Given the description of an element on the screen output the (x, y) to click on. 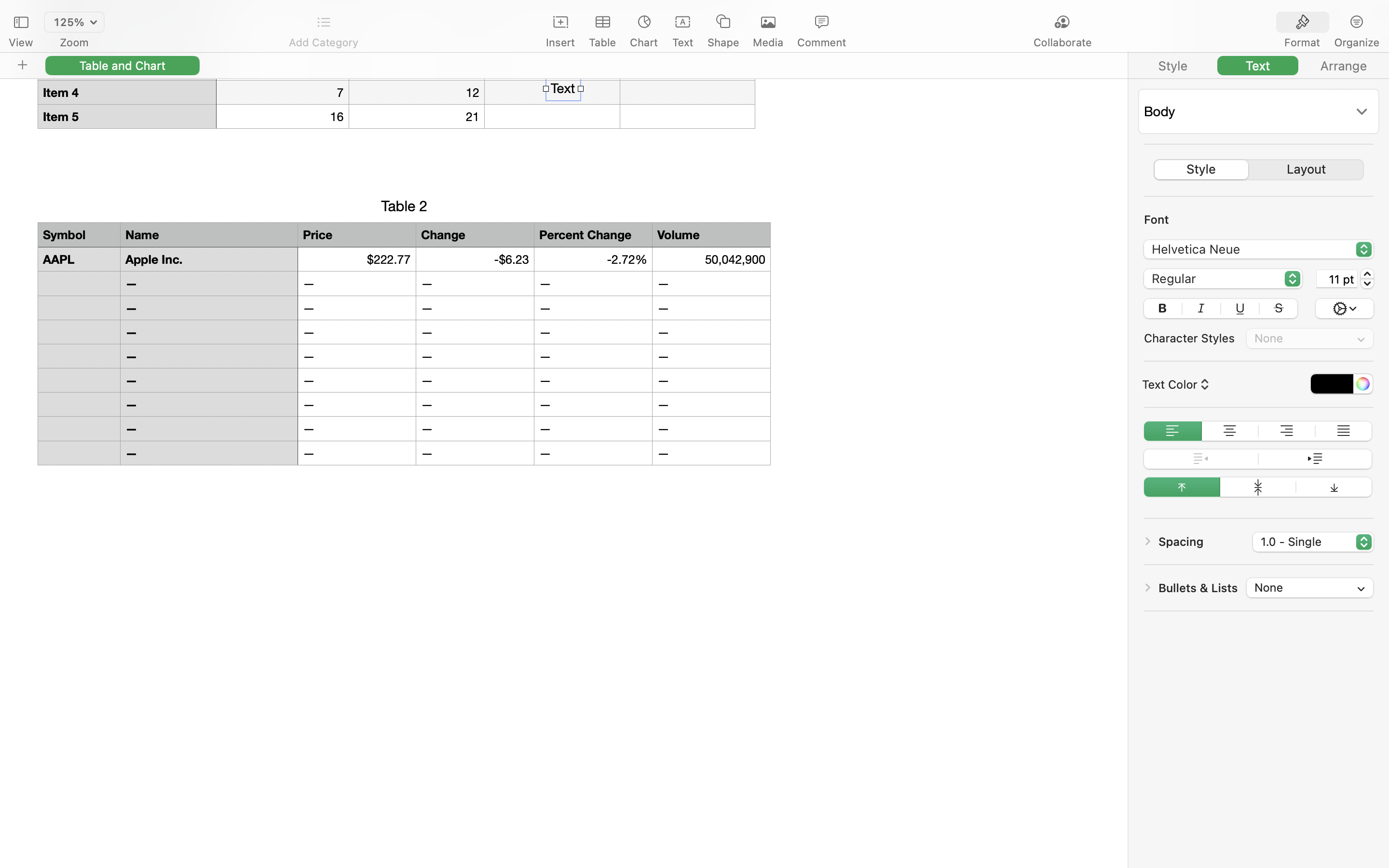
Organize Element type: AXStaticText (1356, 42)
Helvetica Neue Element type: AXPopUpButton (1259, 250)
View Element type: AXStaticText (20, 42)
<AXUIElement 0x10fda3fc0> {pid=1420} Element type: AXGroup (1329, 22)
Bullets & Lists Element type: AXStaticText (1197, 587)
